Given the description of an element on the screen output the (x, y) to click on. 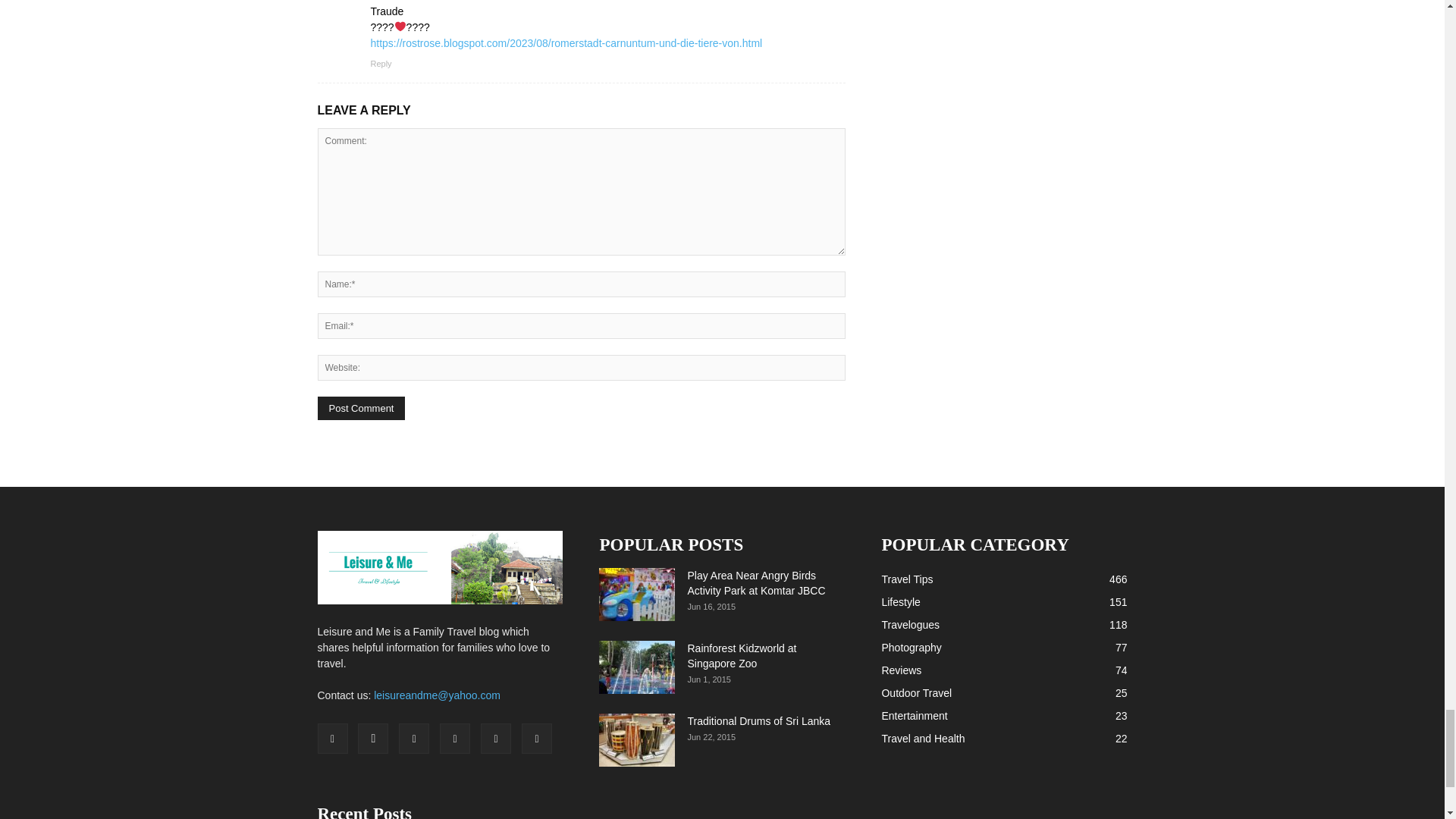
Post Comment (360, 408)
